Given the description of an element on the screen output the (x, y) to click on. 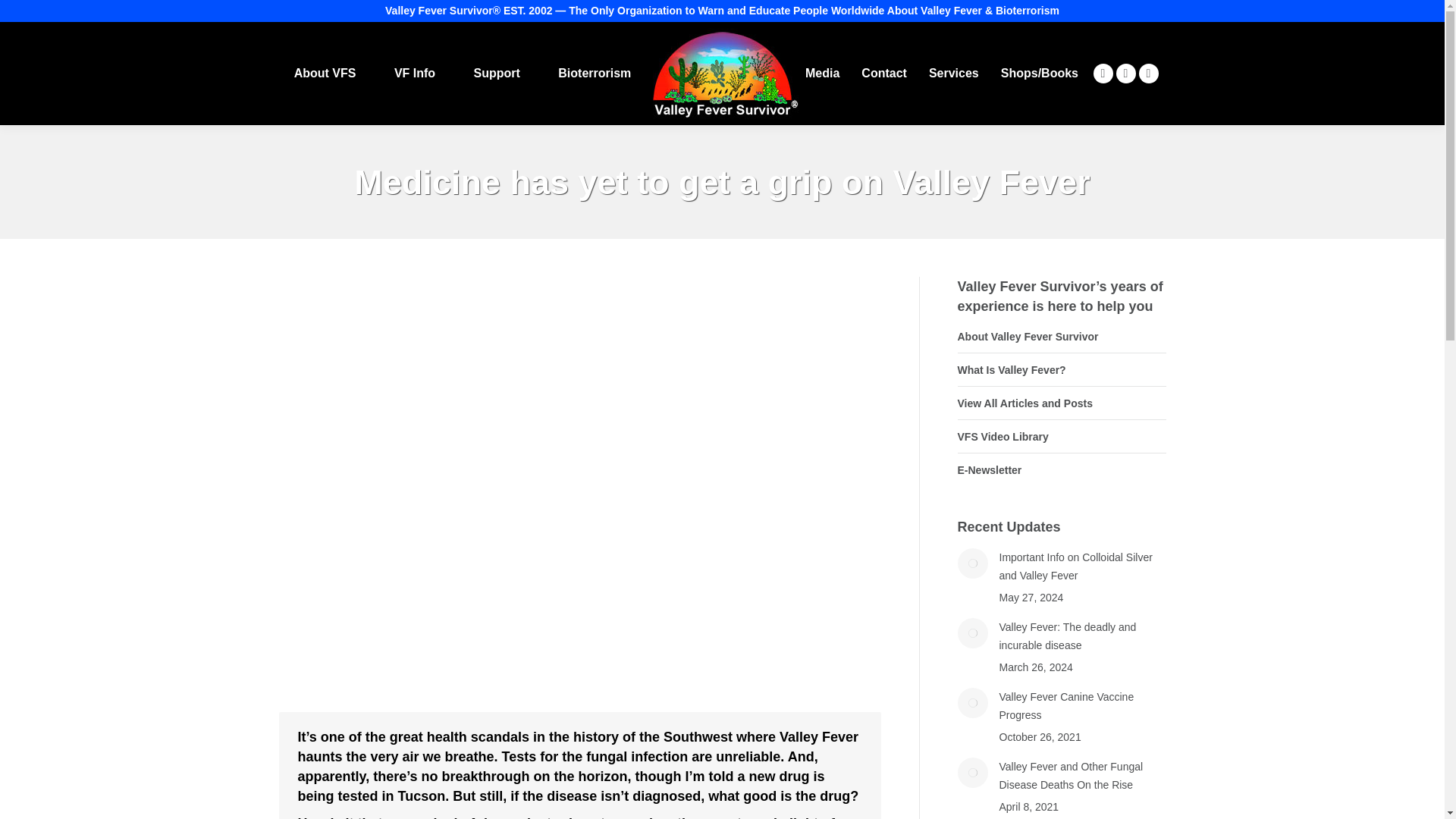
YouTube page opens in new window (1125, 73)
Contact (884, 73)
Media (822, 73)
Support (496, 73)
Bioterrorism (593, 73)
VF Info (414, 73)
About VFS (325, 73)
Twitter page opens in new window (1148, 73)
Services (954, 73)
Facebook page opens in new window (1103, 73)
